Given the description of an element on the screen output the (x, y) to click on. 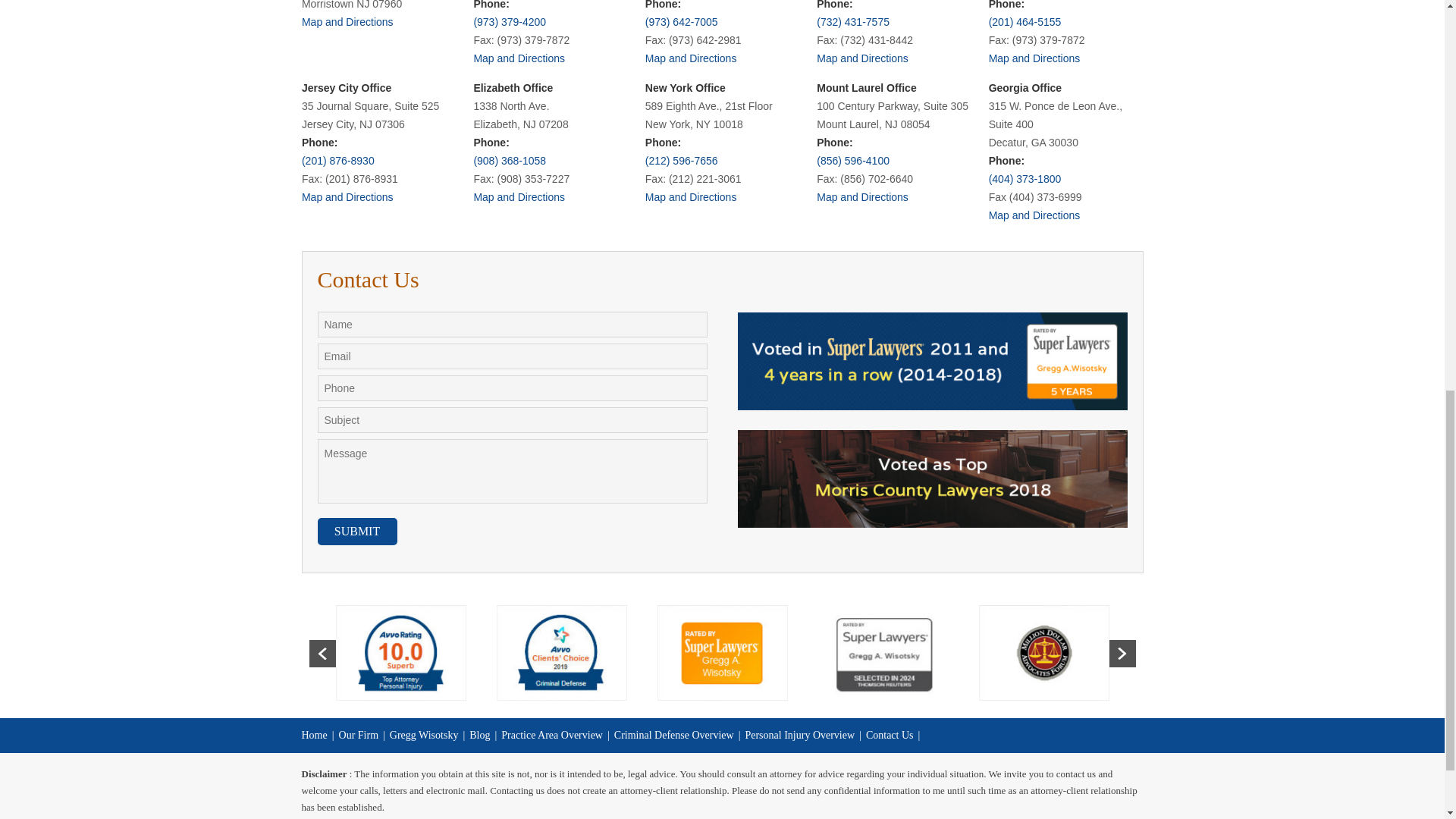
Submit (356, 531)
